Given the description of an element on the screen output the (x, y) to click on. 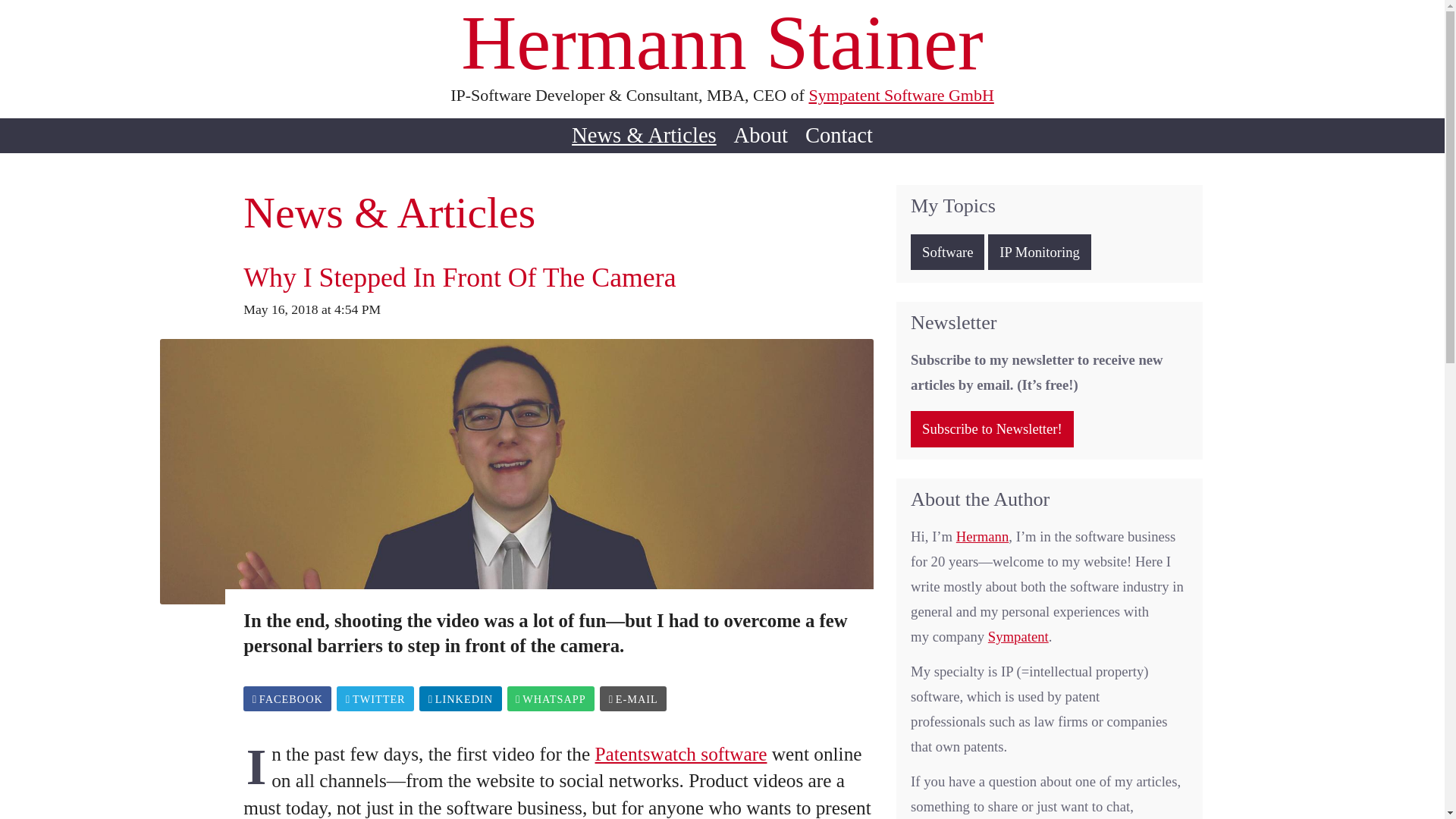
FACEBOOK (287, 698)
Sympatent Software GmbH (900, 94)
About (760, 134)
Subscribe to Newsletter! (992, 429)
Hermann (982, 536)
WHATSAPP (550, 698)
E-MAIL (632, 698)
LINKEDIN (459, 698)
IP Monitoring (1039, 252)
Sympatent (1018, 636)
Patentswatch software (681, 753)
TWITTER (374, 698)
Software (947, 252)
Contact (838, 134)
